Given the description of an element on the screen output the (x, y) to click on. 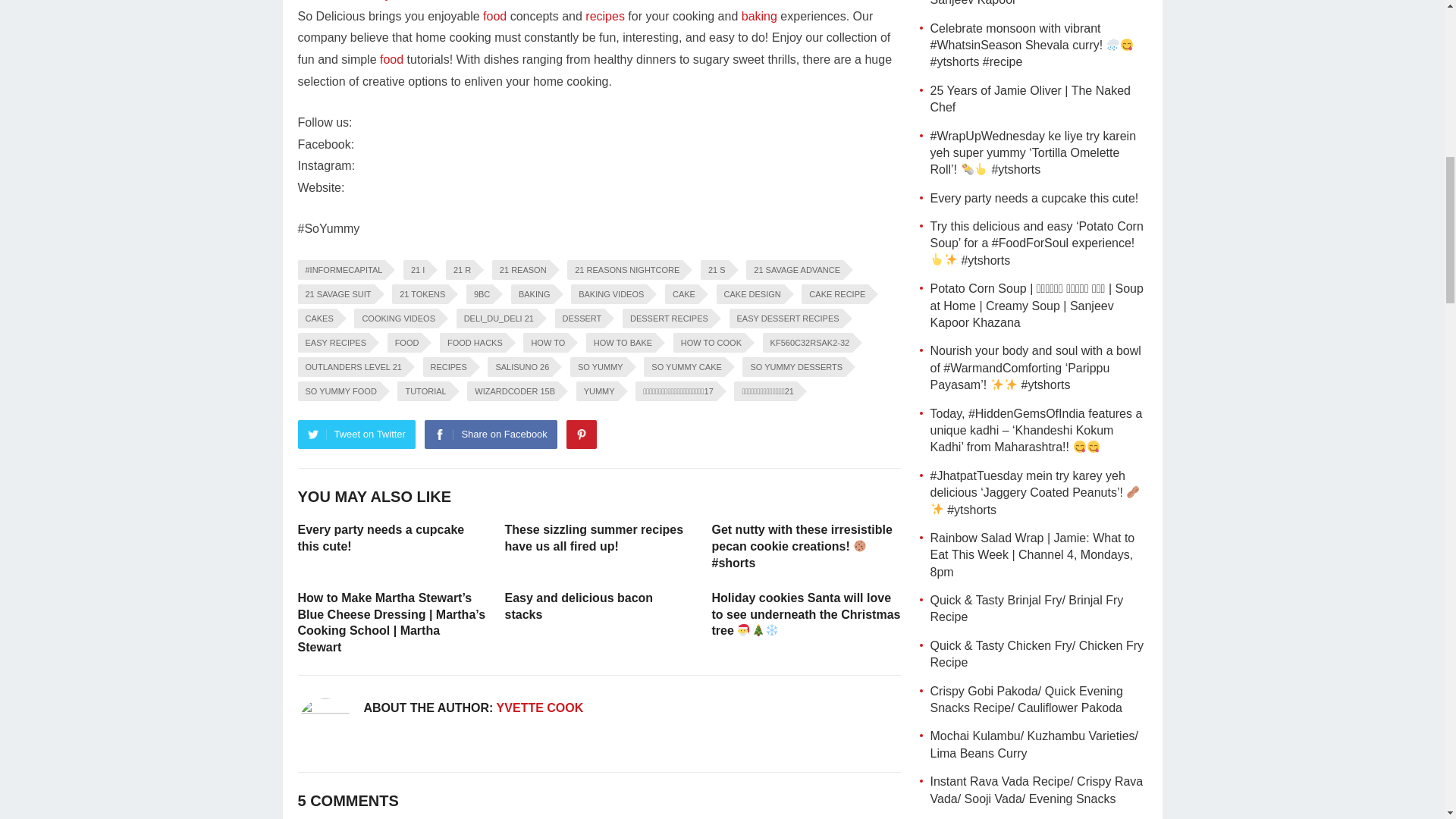
Posts tagged with Food (494, 15)
So Yummy (362, 0)
Posts tagged with recipes (604, 15)
Posts tagged with baking (759, 15)
Posts tagged with Food (391, 59)
Posts tagged with so yummy (362, 0)
food (494, 15)
